Given the description of an element on the screen output the (x, y) to click on. 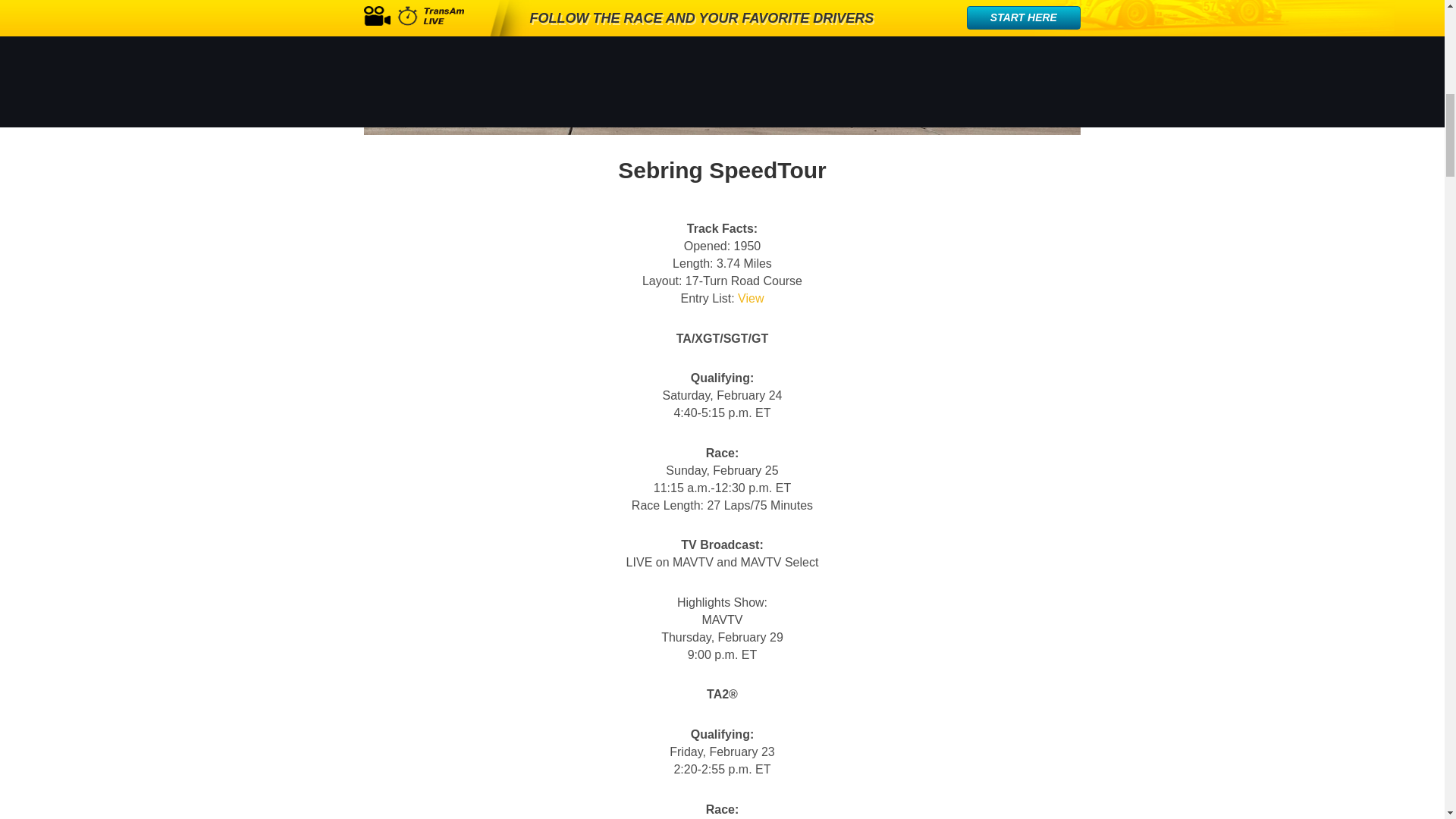
View (750, 297)
